Given the description of an element on the screen output the (x, y) to click on. 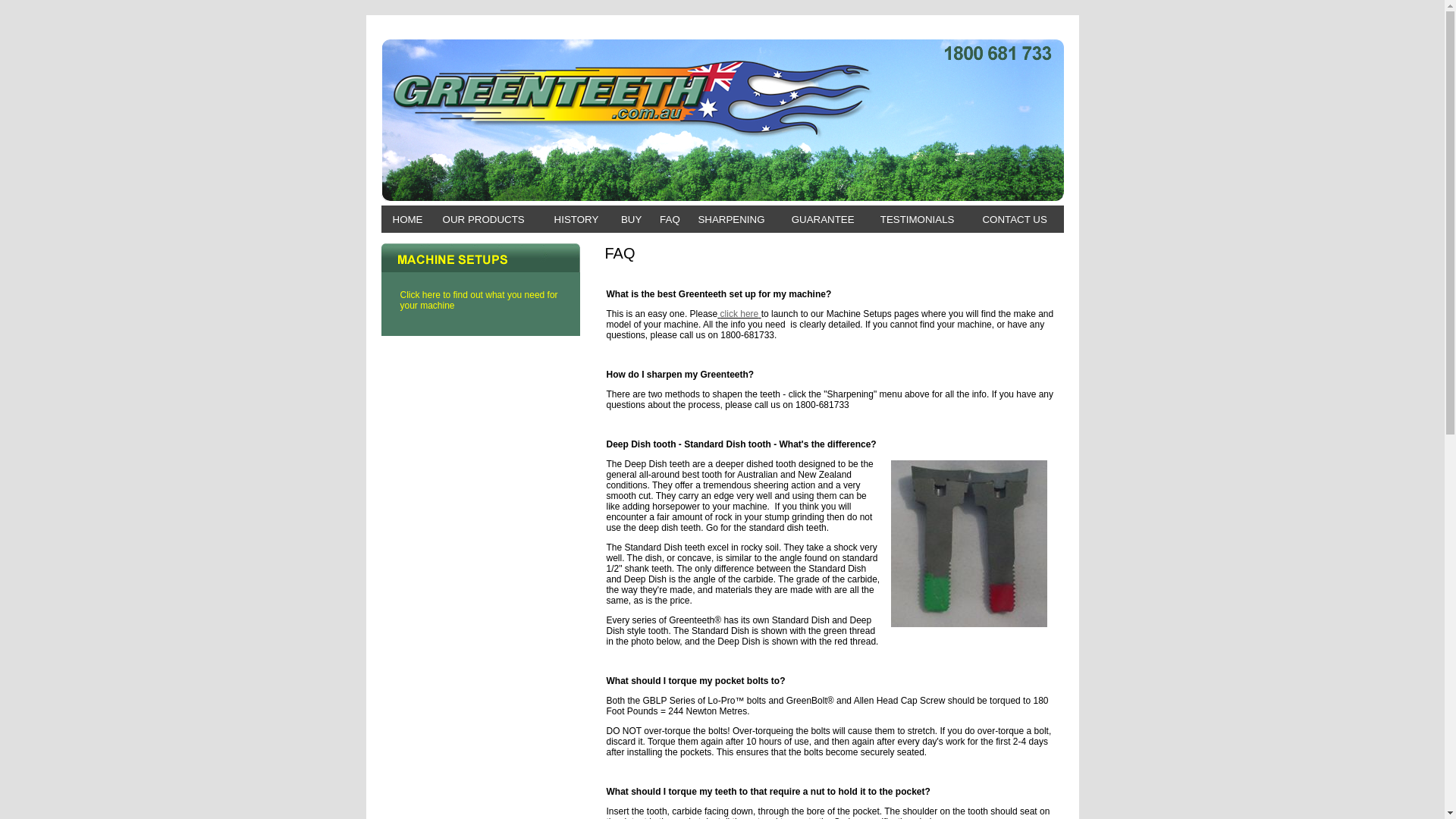
Click here to find out what you need for your machine Element type: text (480, 299)
HISTORY Element type: text (576, 219)
CONTACT US Element type: text (1014, 219)
FAQ Element type: text (669, 219)
OUR PRODUCTS Element type: text (483, 219)
HOME Element type: text (407, 219)
click here Element type: text (739, 313)
_greenteeth-faq-i1.jpg Element type: hover (968, 543)
TESTIMONIALS Element type: text (917, 219)
GUARANTEE Element type: text (822, 219)
SHARPENING Element type: text (730, 219)
BUY Element type: text (631, 219)
